Given the description of an element on the screen output the (x, y) to click on. 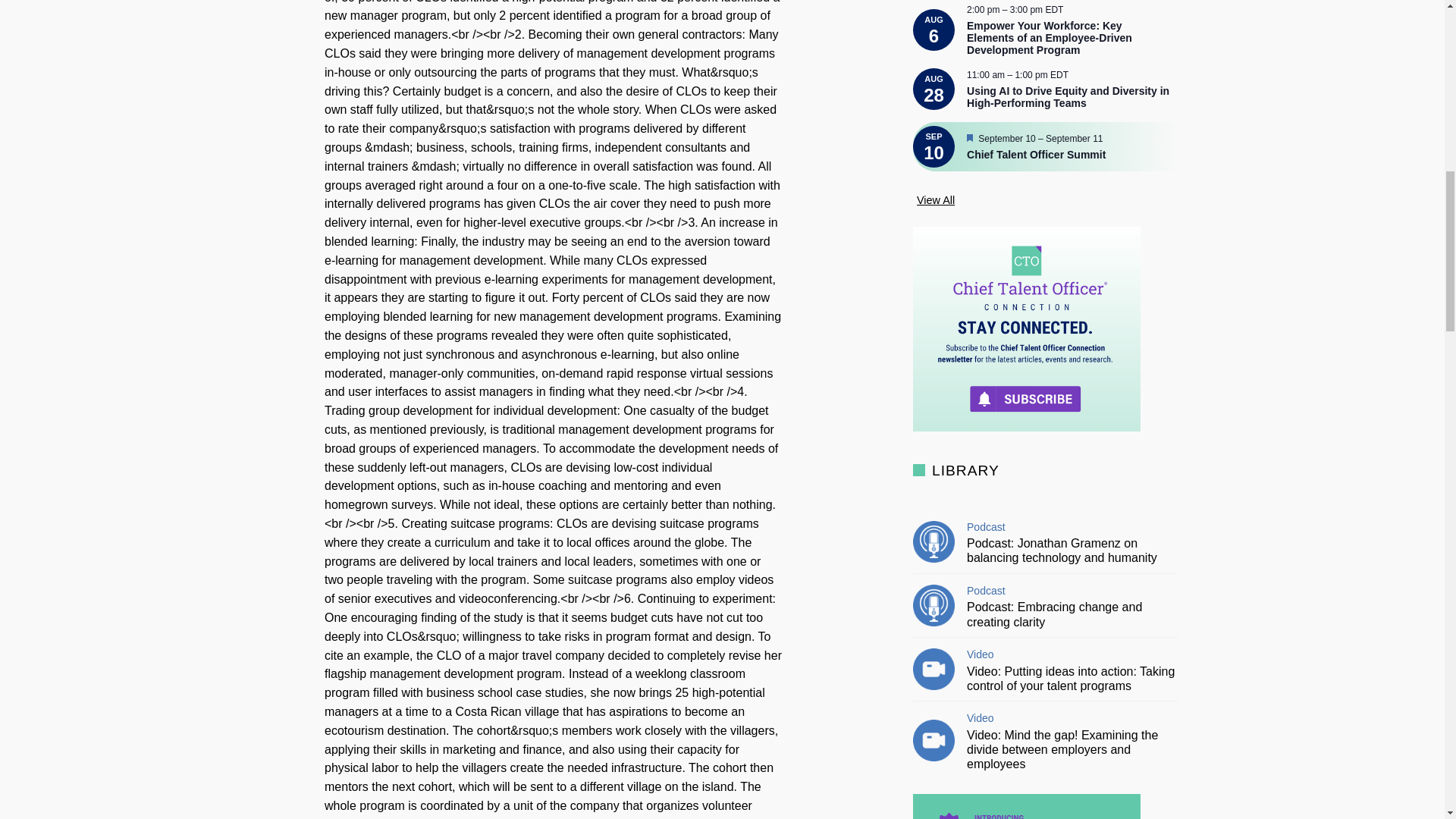
Chief Talent Officer Summit (1066, 154)
Featured (969, 138)
Featured (969, 137)
